Given the description of an element on the screen output the (x, y) to click on. 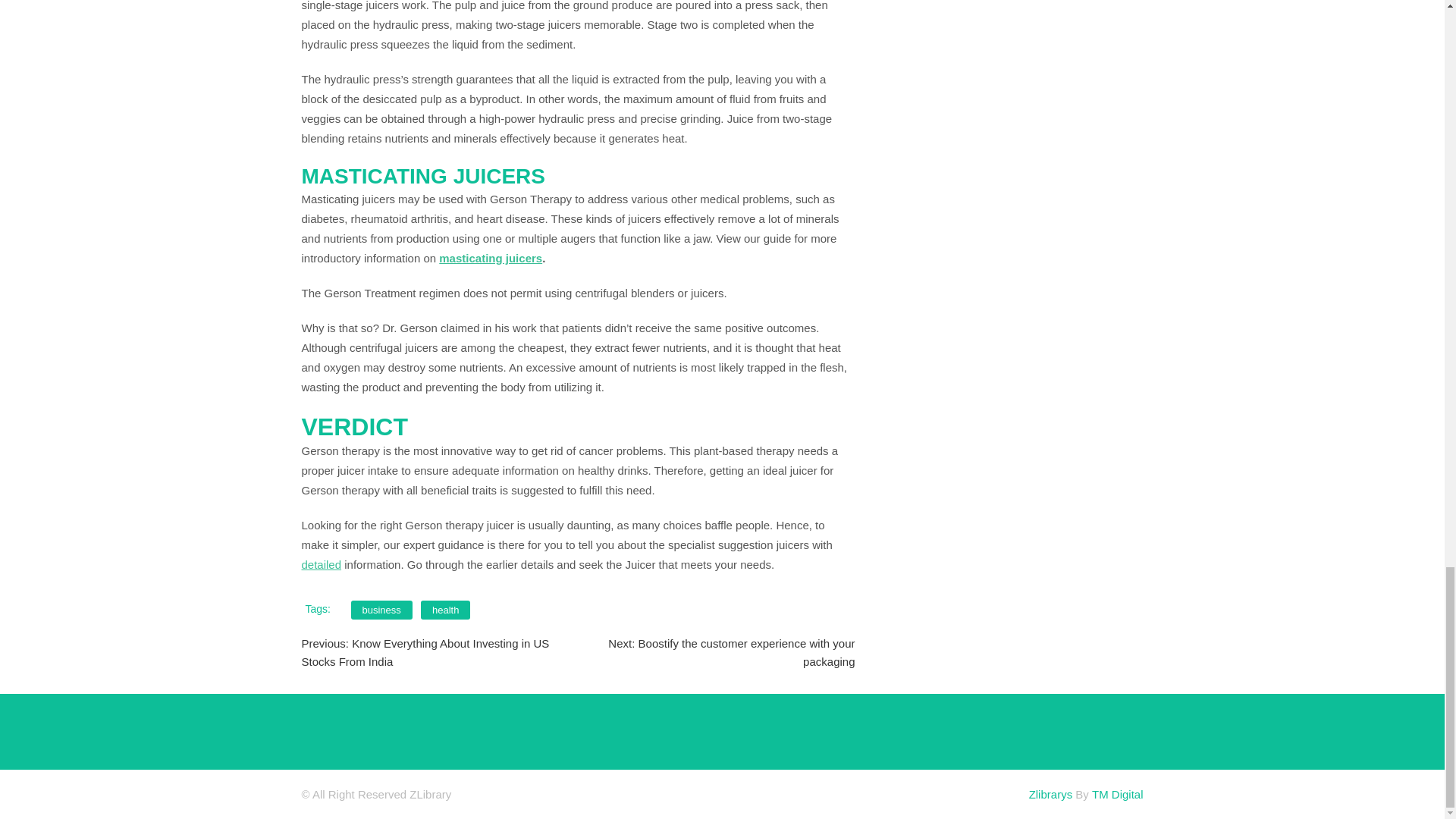
Next: Boostify the customer experience with your packaging (731, 652)
detailed (321, 563)
masticating juicers (490, 257)
business (381, 609)
health (445, 609)
